Given the description of an element on the screen output the (x, y) to click on. 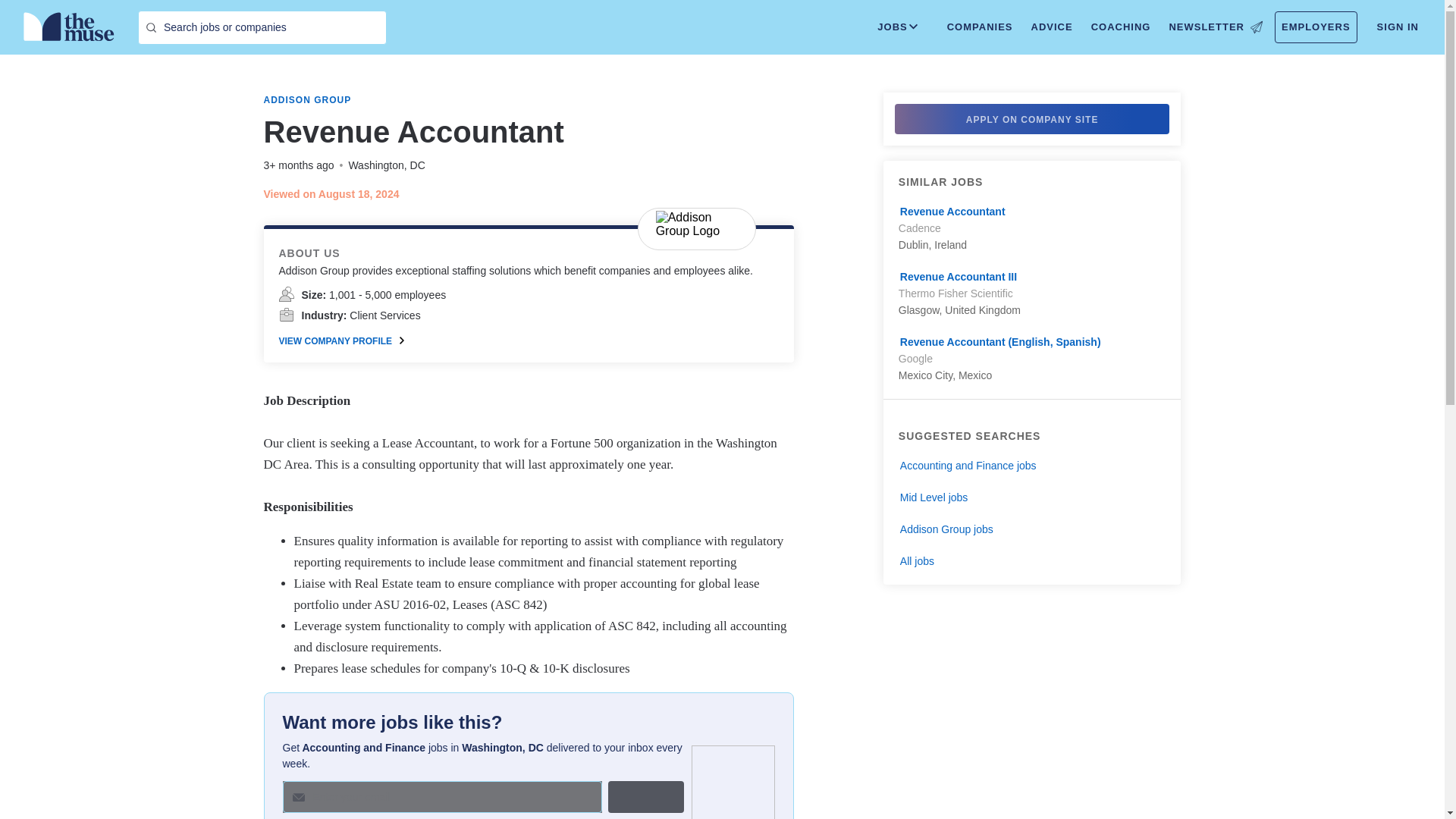
NEWSLETTER (1214, 27)
COMPANIES (979, 27)
EMPLOYERS (1315, 27)
VIEW COMPANY PROFILE (341, 340)
SIGN IN (1398, 27)
ADVICE (1051, 27)
COACHING (1120, 27)
ADDISON GROUP (307, 100)
